Given the description of an element on the screen output the (x, y) to click on. 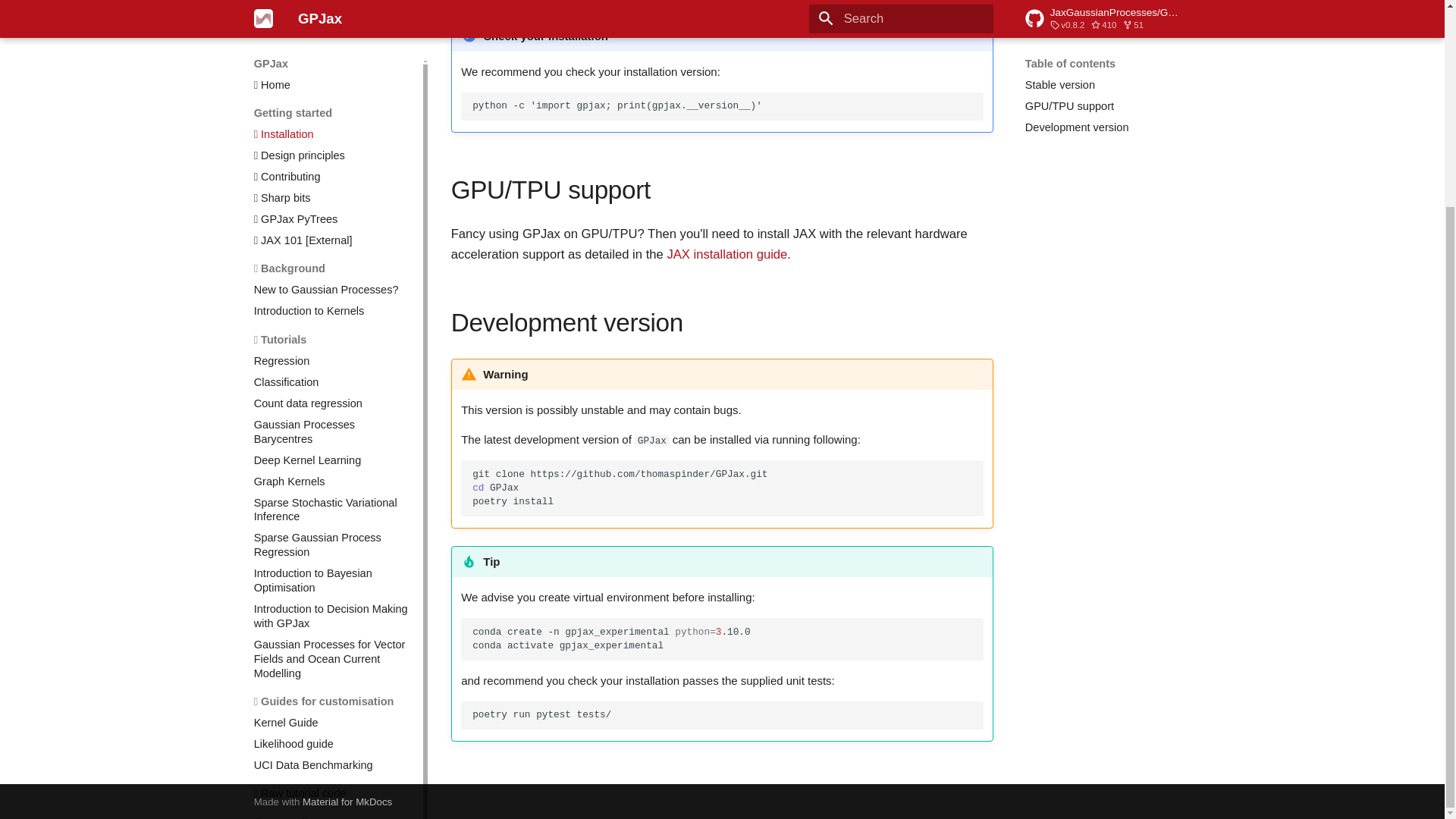
Classification (332, 139)
Graph Kernels (332, 238)
Deep Kernel Learning (332, 217)
New to Gaussian Processes? (332, 47)
Sparse Stochastic Variational Inference (332, 267)
Likelihood guide (332, 501)
Introduction to Bayesian Optimisation (332, 337)
Sparse Gaussian Process Regression (332, 302)
UCI Data Benchmarking (332, 522)
